Given the description of an element on the screen output the (x, y) to click on. 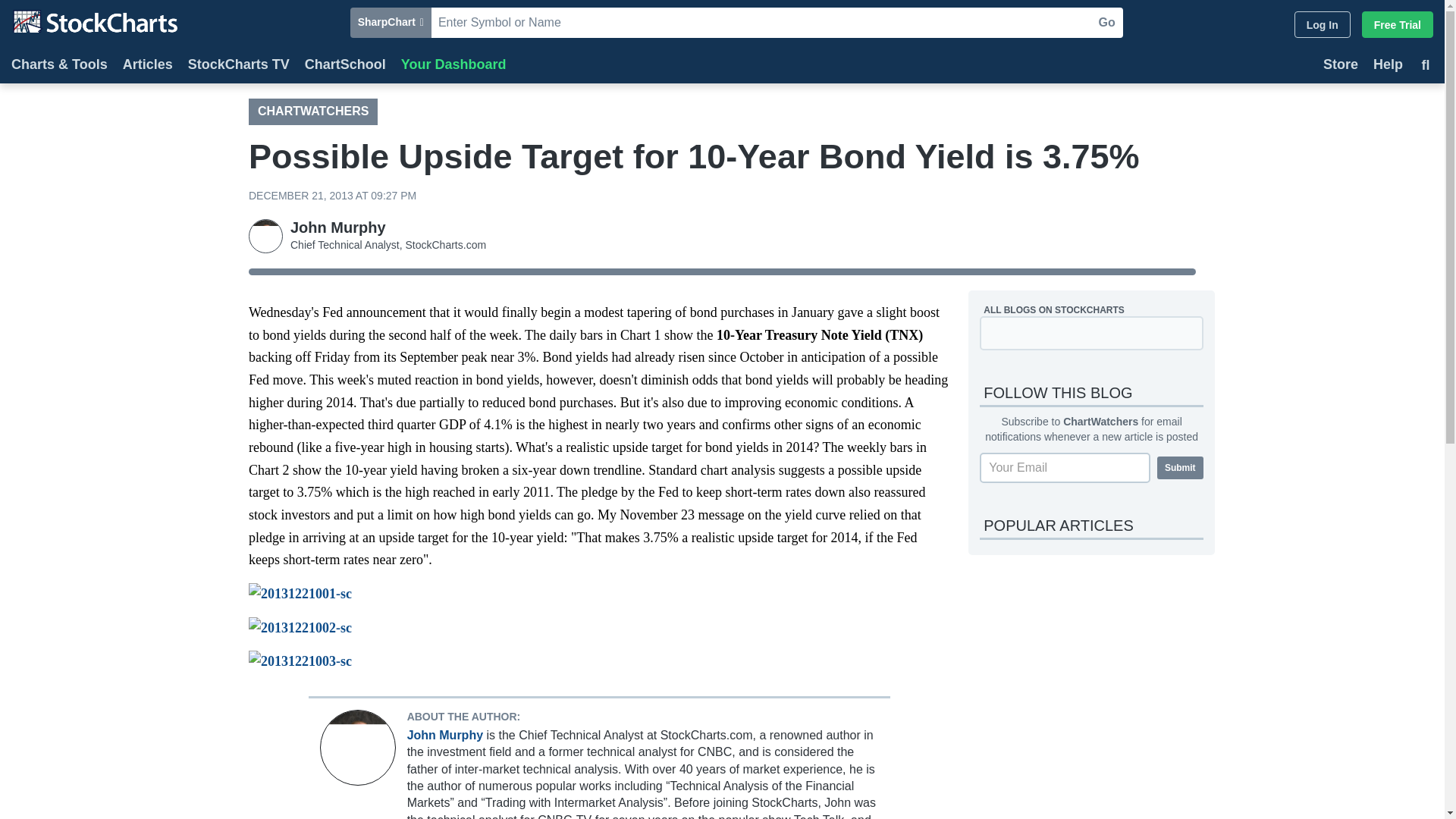
Free Trial (1396, 24)
Articles (147, 66)
ChartSchool (344, 66)
SharpChart (390, 22)
Subscriber Email (1064, 467)
Your Dashboard (453, 66)
20131221003-sc (598, 661)
Go (1106, 22)
20131221001-sc (598, 594)
Log In (1322, 24)
